Given the description of an element on the screen output the (x, y) to click on. 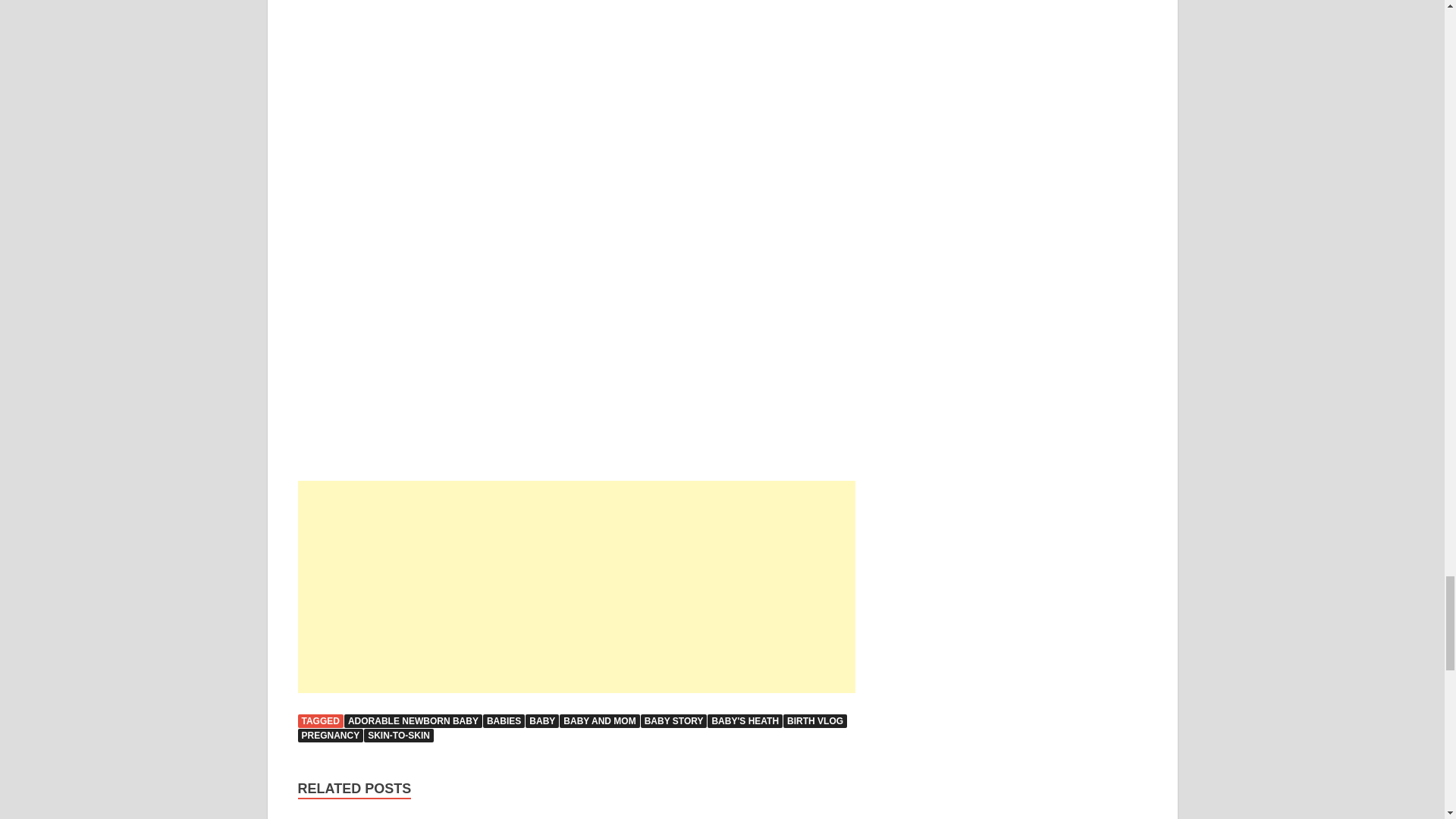
BABY STORY (673, 721)
SKIN-TO-SKIN (398, 735)
ADORABLE NEWBORN BABY (412, 721)
BABY (542, 721)
BABIES (503, 721)
PREGNANCY (329, 735)
BABY'S HEATH (745, 721)
BIRTH VLOG (815, 721)
BABY AND MOM (599, 721)
